Given the description of an element on the screen output the (x, y) to click on. 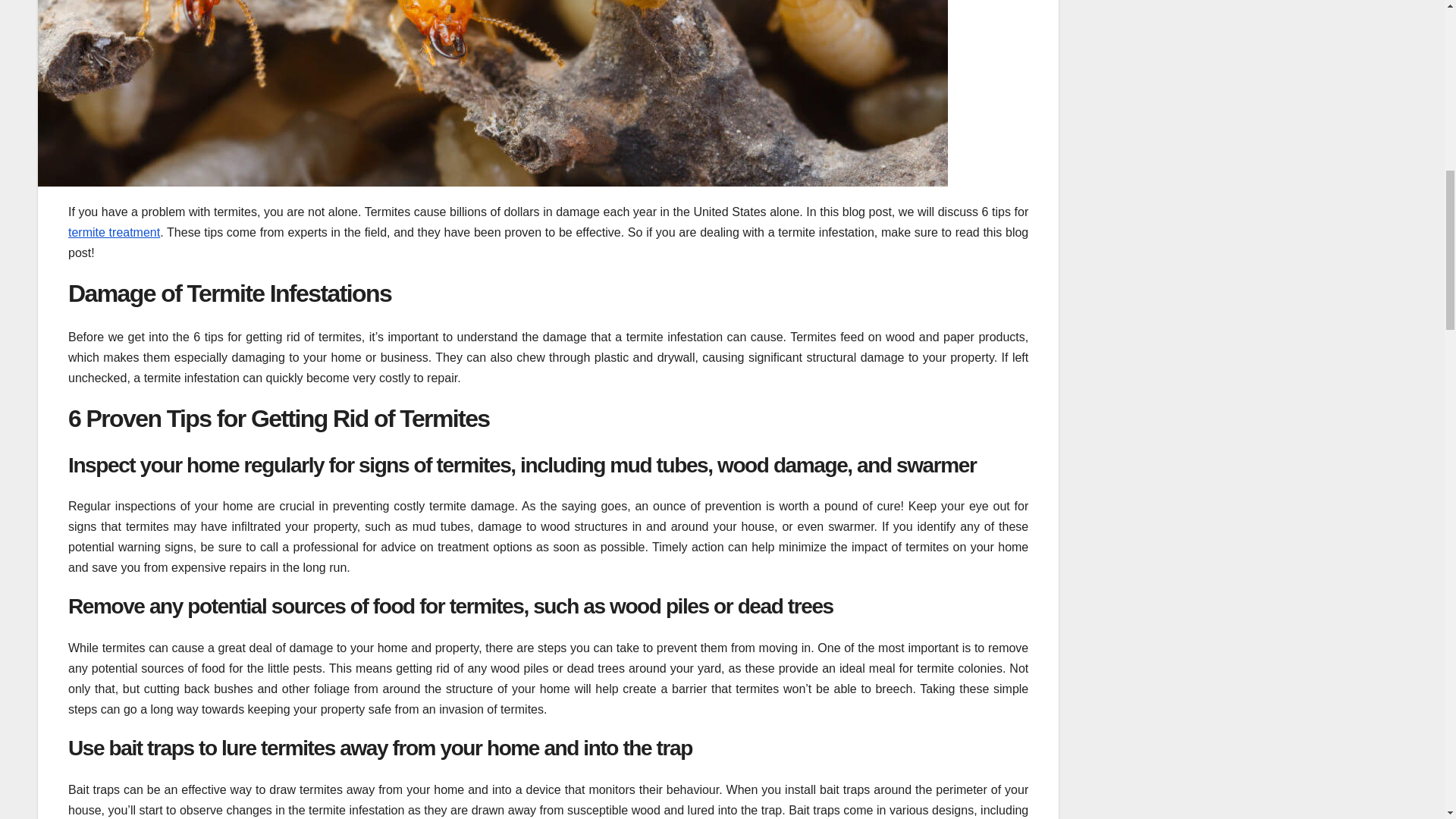
termite treatment (114, 232)
